Given the description of an element on the screen output the (x, y) to click on. 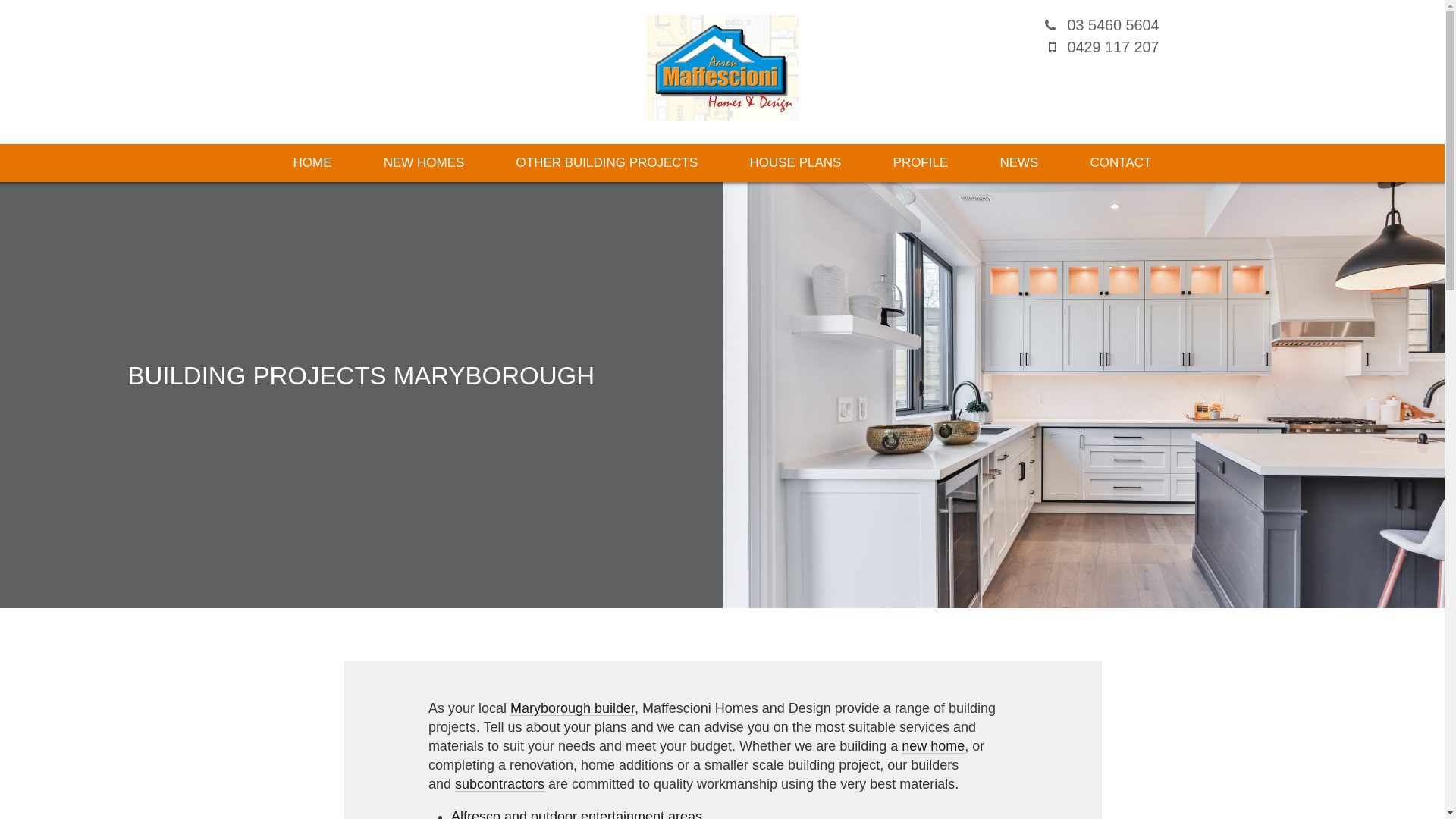
Maryborough builder Element type: text (572, 707)
03 5460 5604 Element type: text (1112, 24)
0429 117 207 Element type: text (1112, 46)
HOUSE PLANS Element type: text (794, 163)
OTHER BUILDING PROJECTS Element type: text (607, 163)
PROFILE Element type: text (919, 163)
NEW HOMES Element type: text (423, 163)
HOME Element type: text (311, 163)
NEWS Element type: text (1018, 163)
CONTACT Element type: text (1120, 163)
new home Element type: text (932, 745)
subcontractors Element type: text (499, 783)
